Given the description of an element on the screen output the (x, y) to click on. 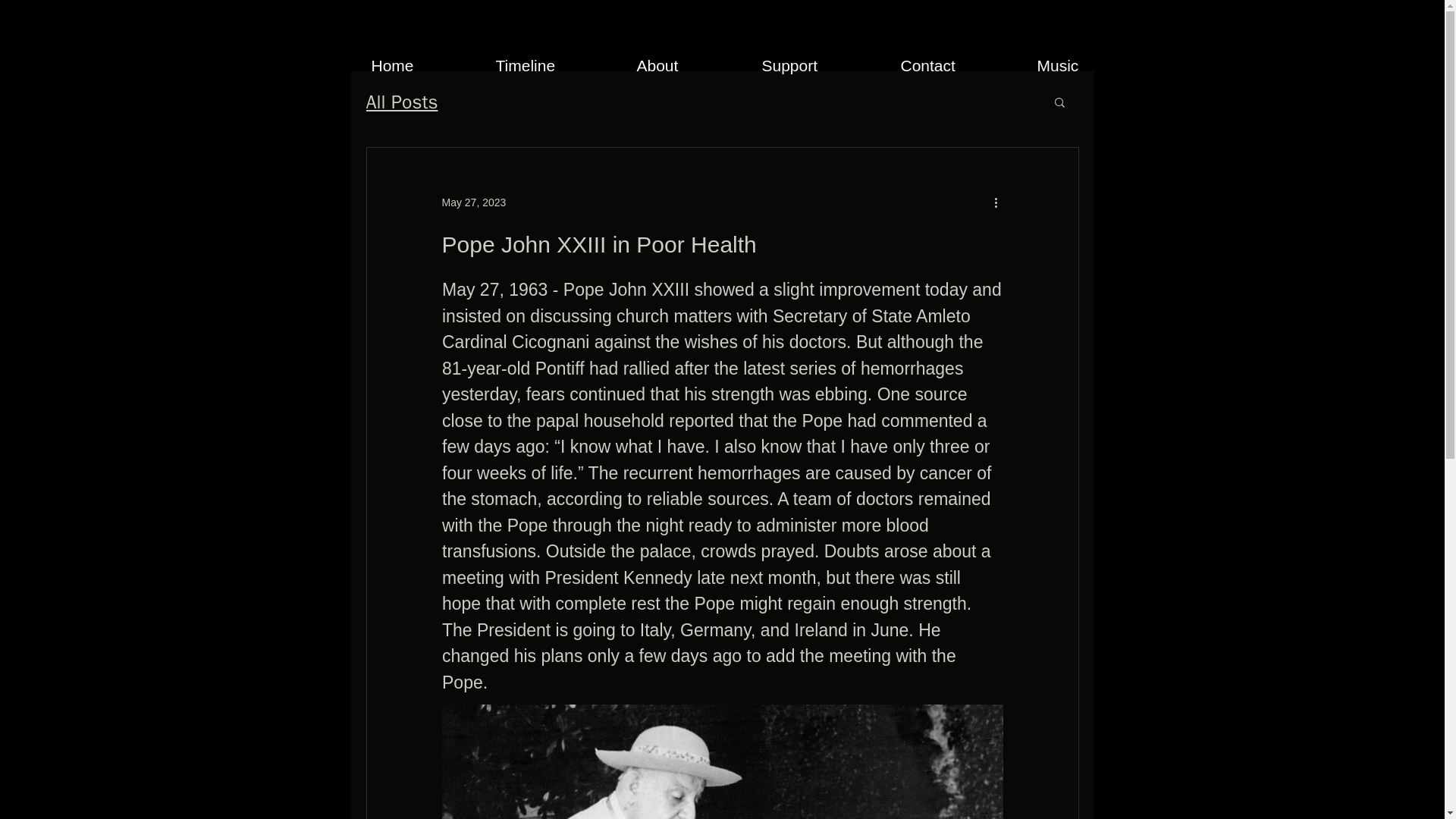
Timeline (553, 65)
Music (1085, 65)
Home (421, 65)
Contact (956, 65)
About (686, 65)
May 27, 2023 (473, 201)
All Posts (401, 101)
Support (820, 65)
